Given the description of an element on the screen output the (x, y) to click on. 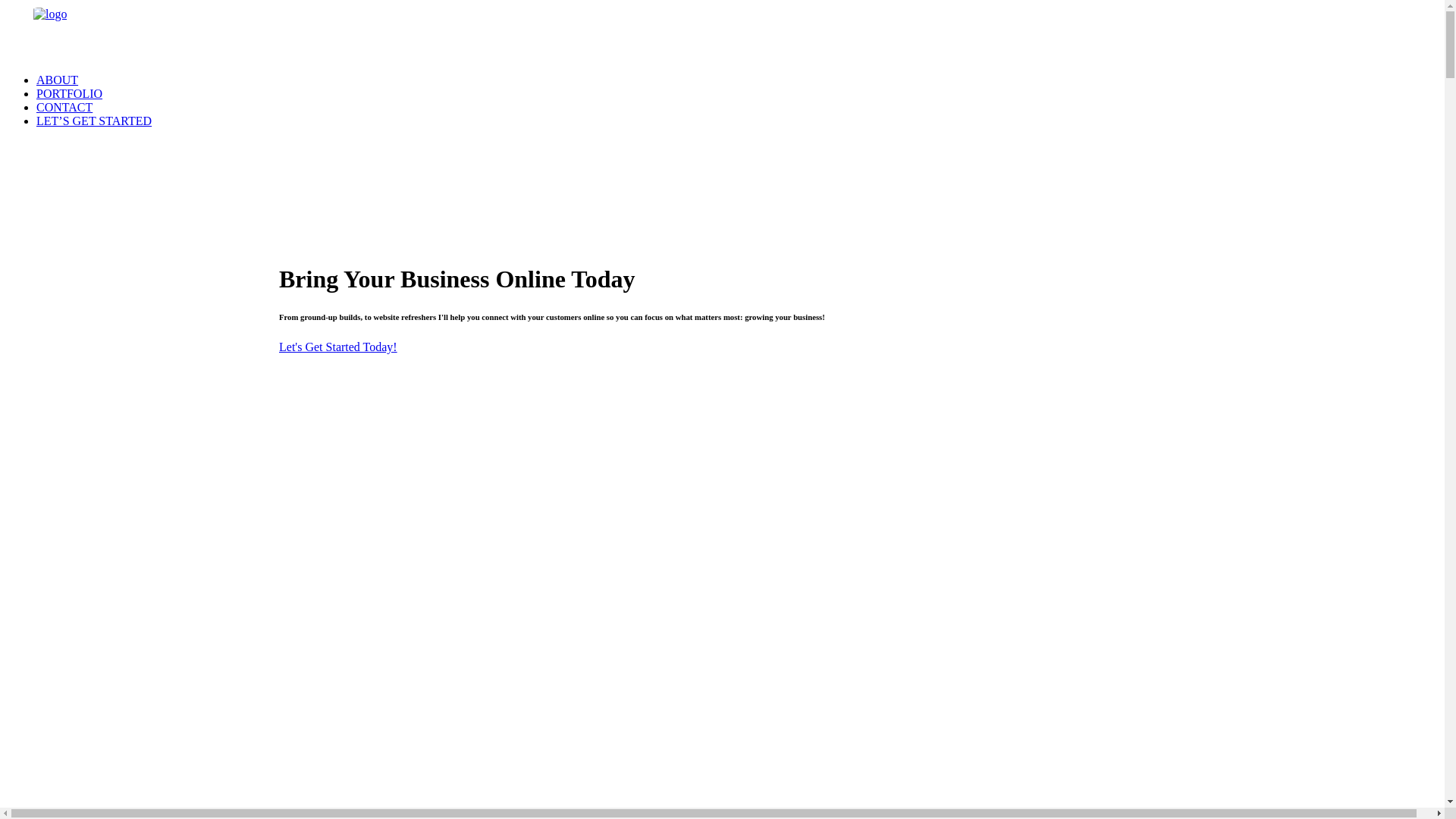
CONTACT Element type: text (64, 106)
PORTFOLIO Element type: text (69, 93)
Let's Get Started Today! Element type: text (338, 346)
ABOUT Element type: text (57, 79)
